Given the description of an element on the screen output the (x, y) to click on. 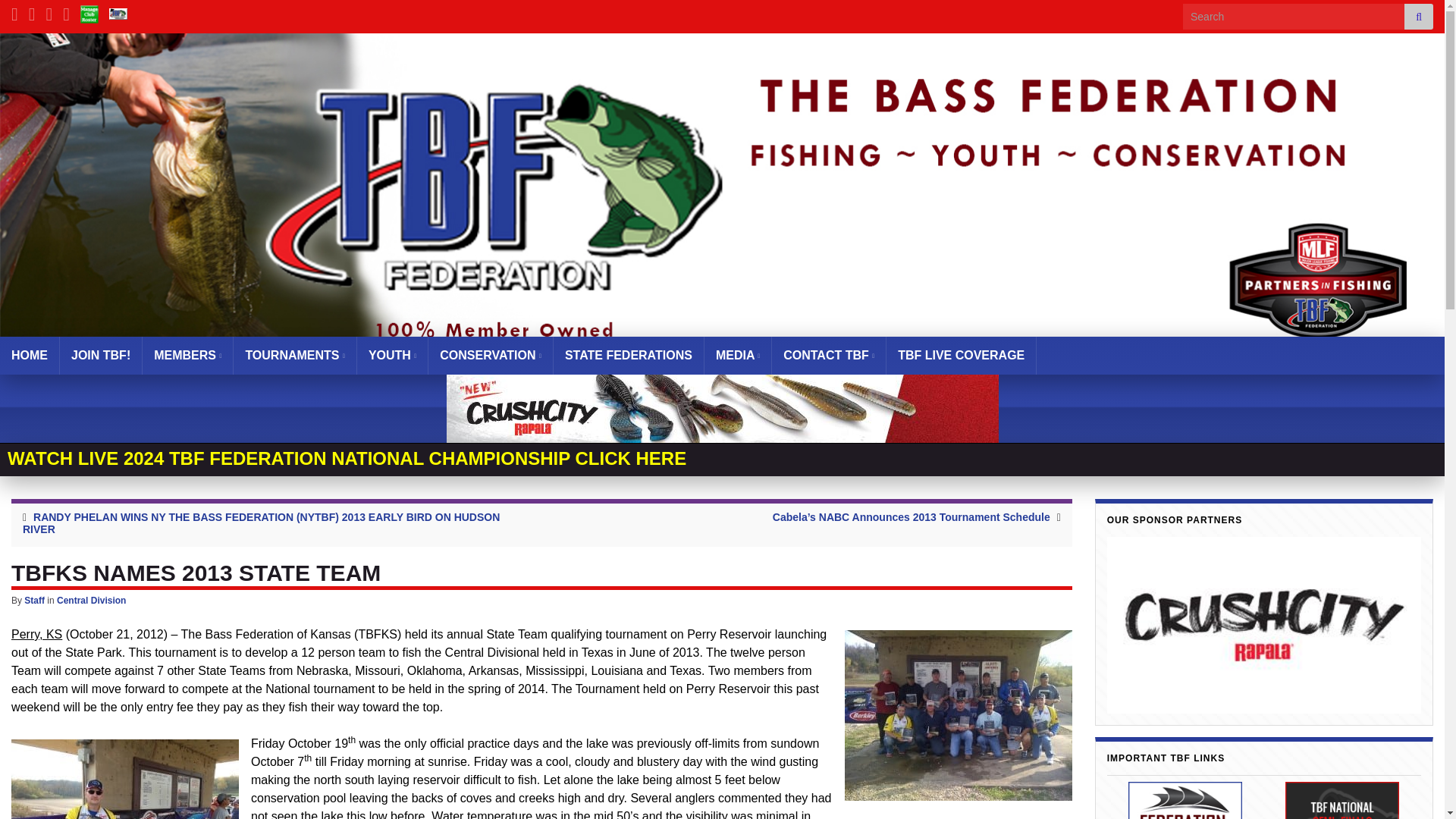
HOME (29, 355)
State Team (957, 714)
MEMBERS (187, 355)
YOUTH (392, 355)
JOIN TBF! (100, 355)
Larry F 4.11 Bass1 (124, 779)
Manage Club Roster (89, 12)
TOURNAMENTS (294, 355)
